Given the description of an element on the screen output the (x, y) to click on. 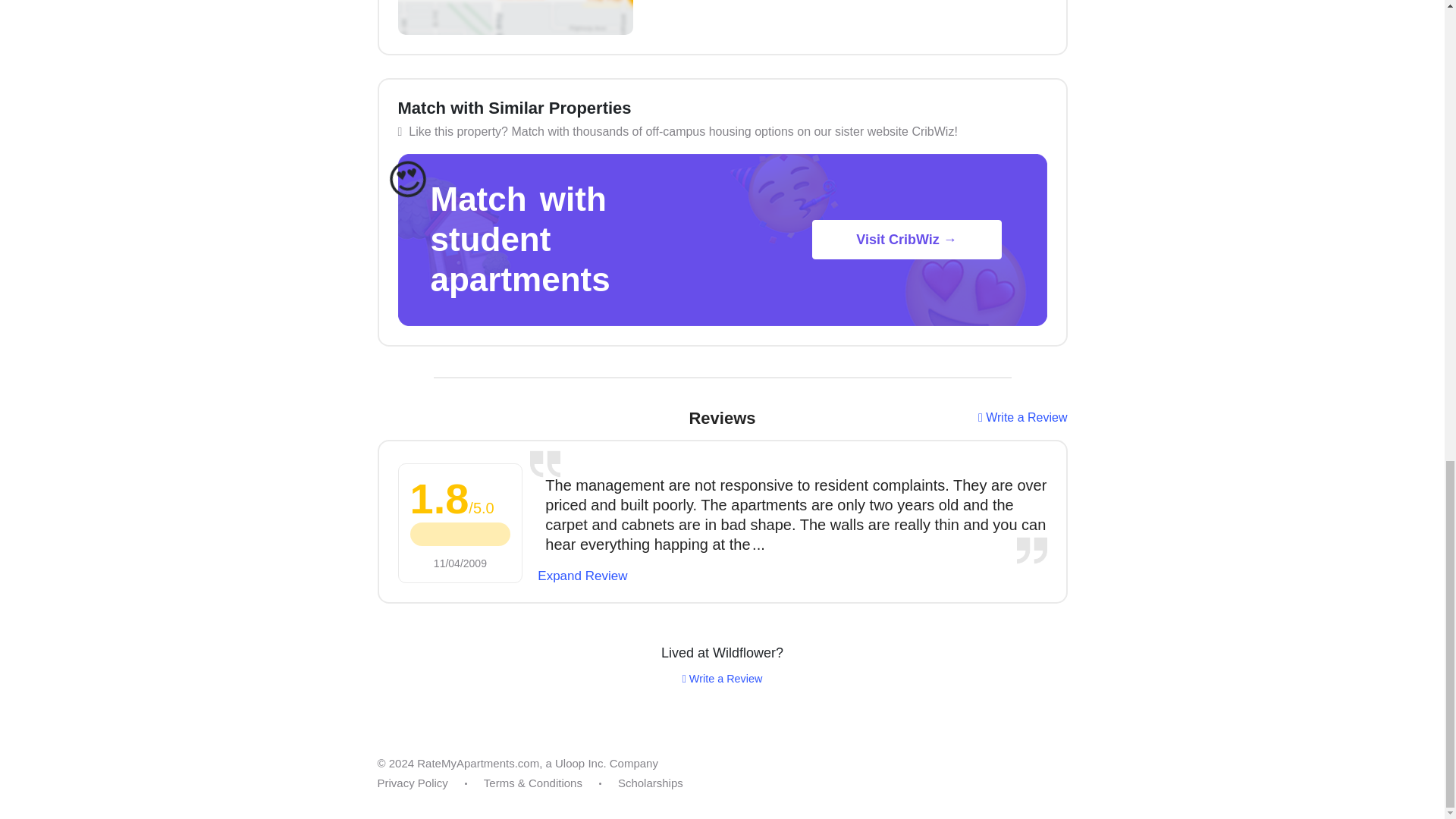
Scholarships (649, 782)
Expand Review (582, 576)
RateMyApartments.com (477, 762)
Privacy Policy (412, 782)
